Given the description of an element on the screen output the (x, y) to click on. 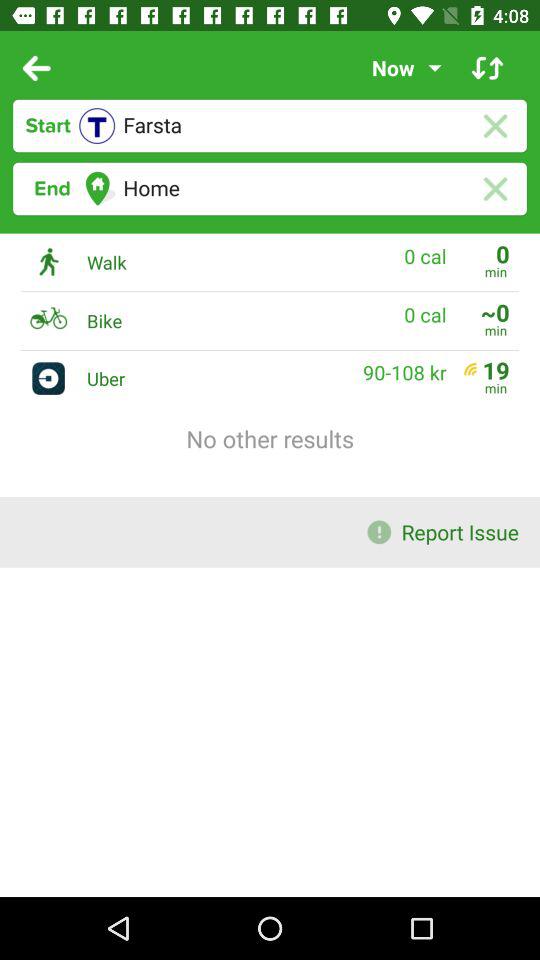
closed (494, 188)
